Given the description of an element on the screen output the (x, y) to click on. 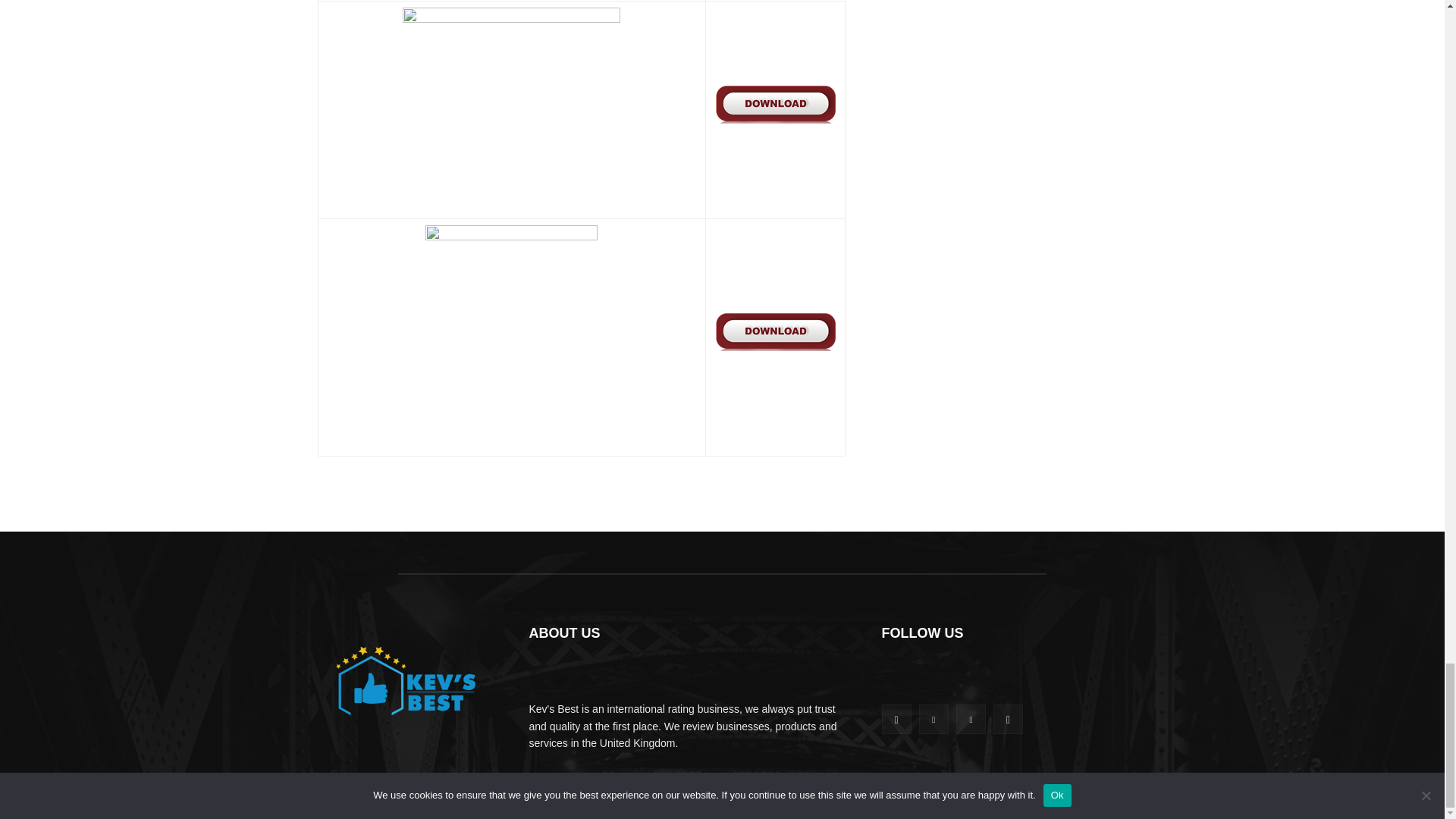
Pinterest (970, 718)
Facebook (895, 718)
Twitter (1007, 718)
Linkedin (933, 718)
